Given the description of an element on the screen output the (x, y) to click on. 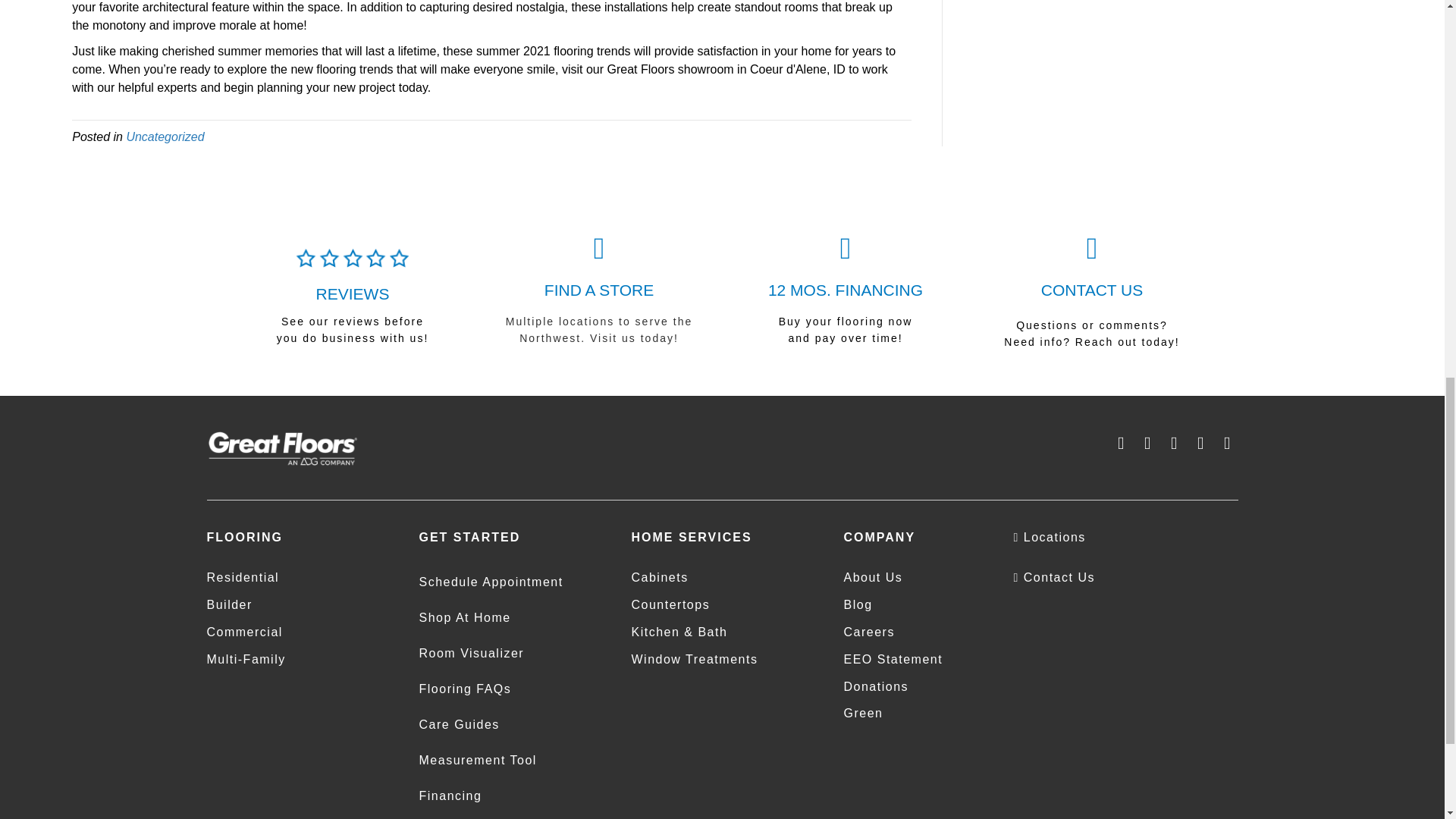
five-star-reviews (352, 257)
white-gf-logo (282, 448)
HOME SERVICES (690, 536)
GET STARTED (469, 536)
FLOORING (244, 536)
Company (879, 536)
